Given the description of an element on the screen output the (x, y) to click on. 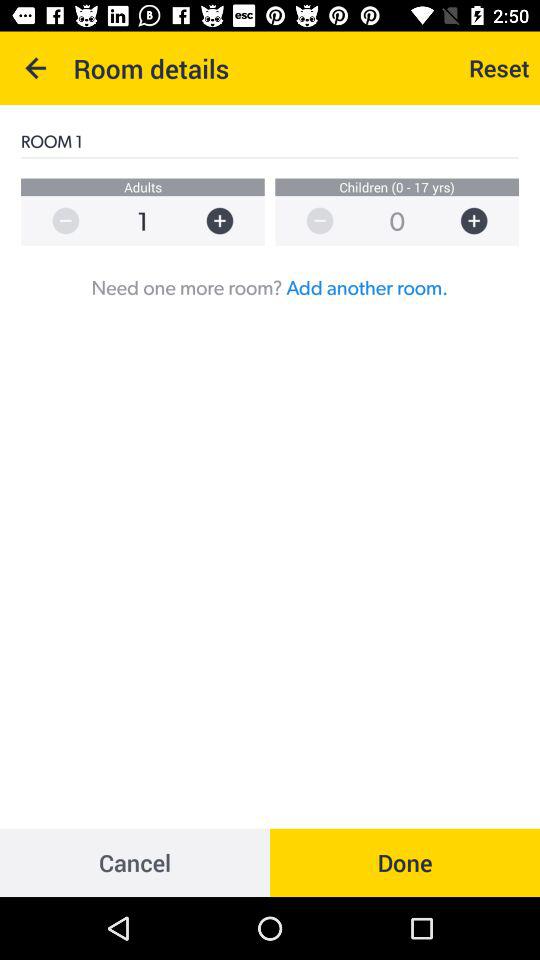
add children (484, 220)
